Given the description of an element on the screen output the (x, y) to click on. 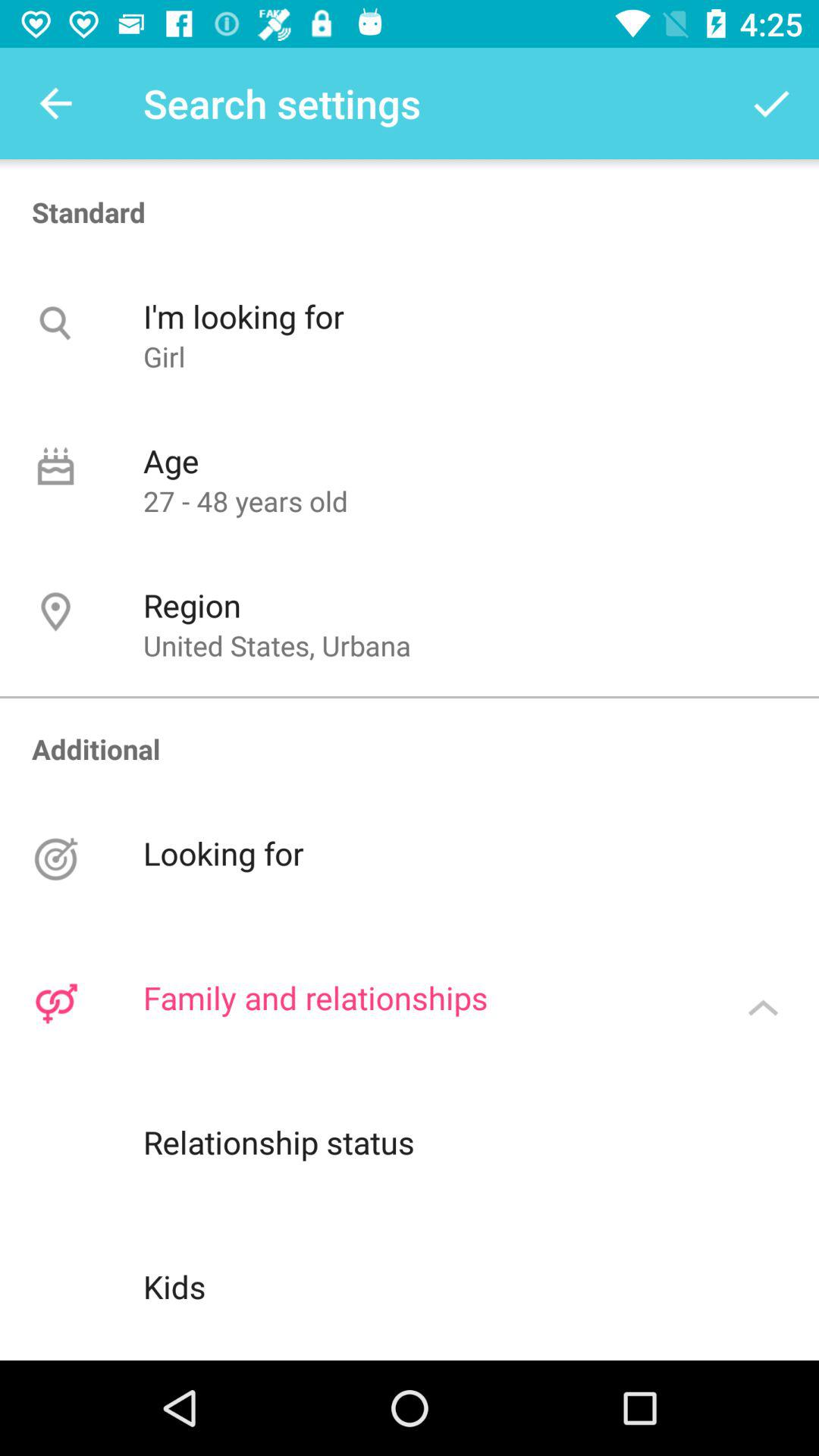
choose item next to search settings (55, 103)
